Given the description of an element on the screen output the (x, y) to click on. 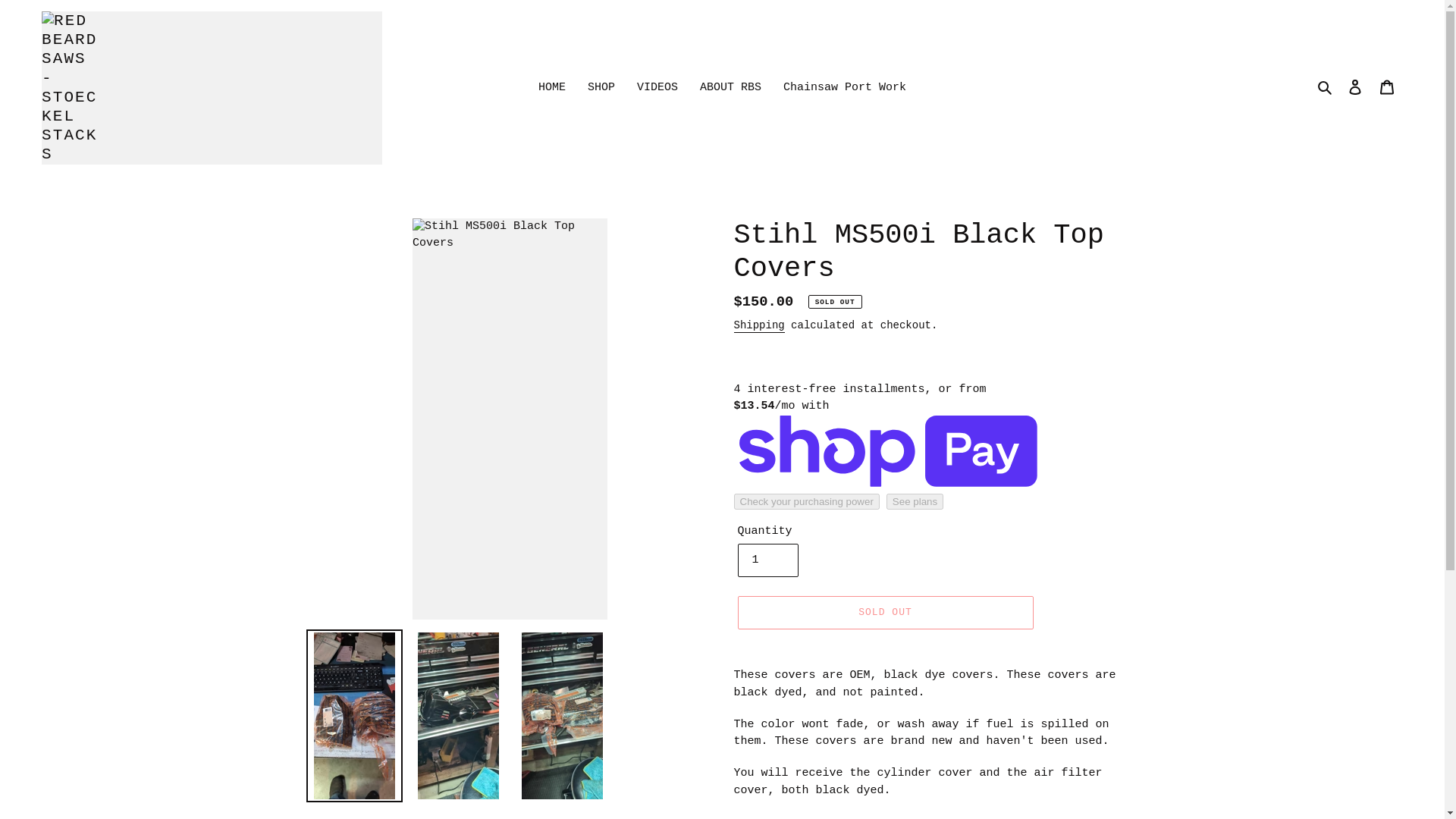
SHOP (601, 87)
HOME (552, 87)
Search (1326, 87)
Log in (1355, 87)
VIDEOS (656, 87)
ABOUT RBS (730, 87)
1 (766, 560)
Chainsaw Port Work (845, 87)
Shipping (758, 325)
SOLD OUT (884, 612)
